Given the description of an element on the screen output the (x, y) to click on. 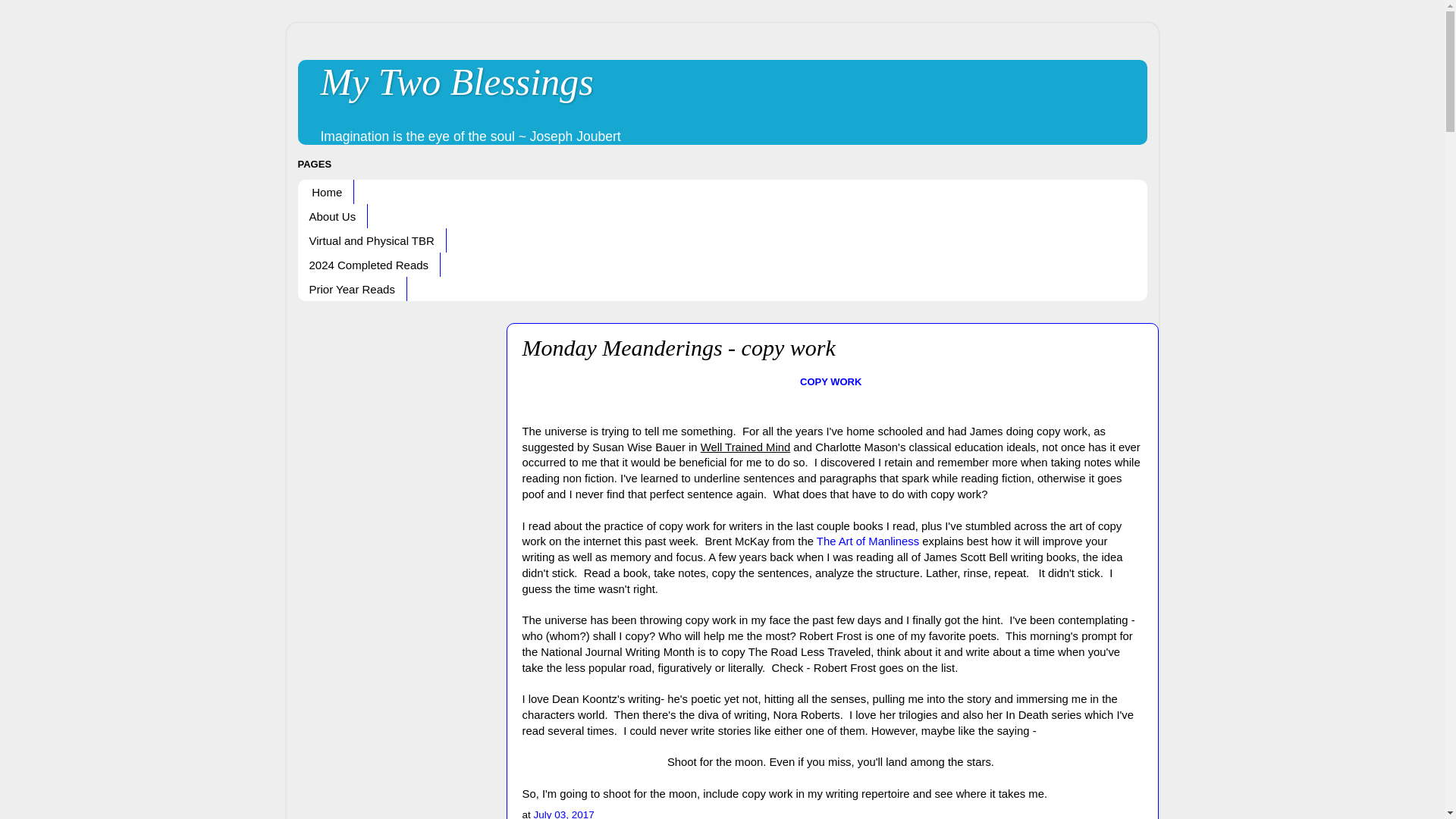
2024 Completed Reads (369, 264)
Email Post (603, 814)
The Art of Manliness (867, 541)
Prior Year Reads (351, 288)
My Two Blessings (456, 81)
Virtual and Physical TBR (371, 240)
Home (325, 191)
About Us (332, 215)
permanent link (564, 814)
July 03, 2017 (564, 814)
